Given the description of an element on the screen output the (x, y) to click on. 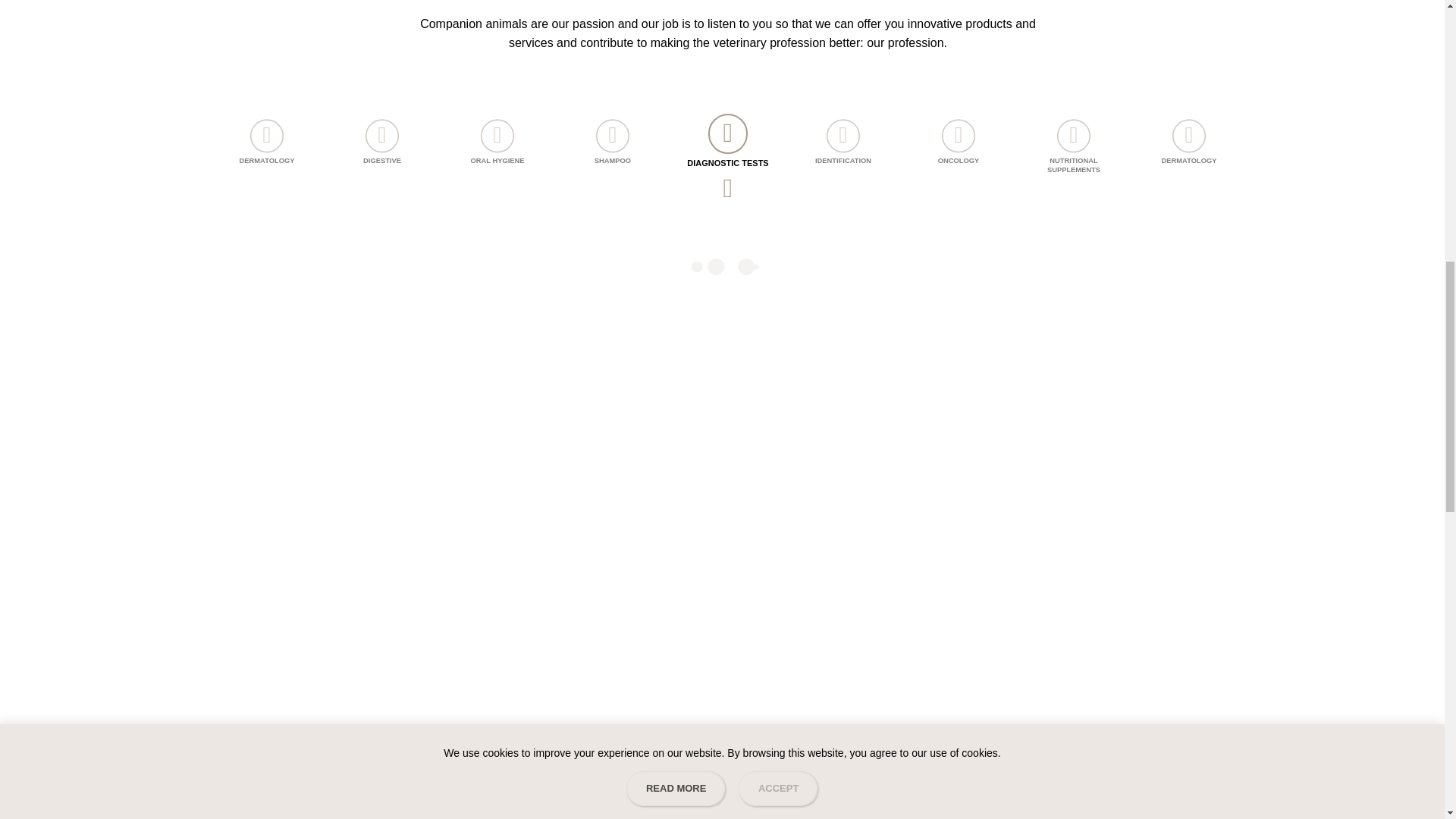
NUTRITIONAL SUPPLEMENTS (1082, 150)
ORAL HYGIENE (505, 150)
SHAMPOO (620, 150)
IDENTIFICATION (850, 150)
DIAGNOSTIC TESTS (727, 145)
ONCOLOGY (966, 150)
DERMATOLOGY (274, 150)
DIGESTIVE (390, 150)
DERMATOLOGY (1197, 150)
